Given the description of an element on the screen output the (x, y) to click on. 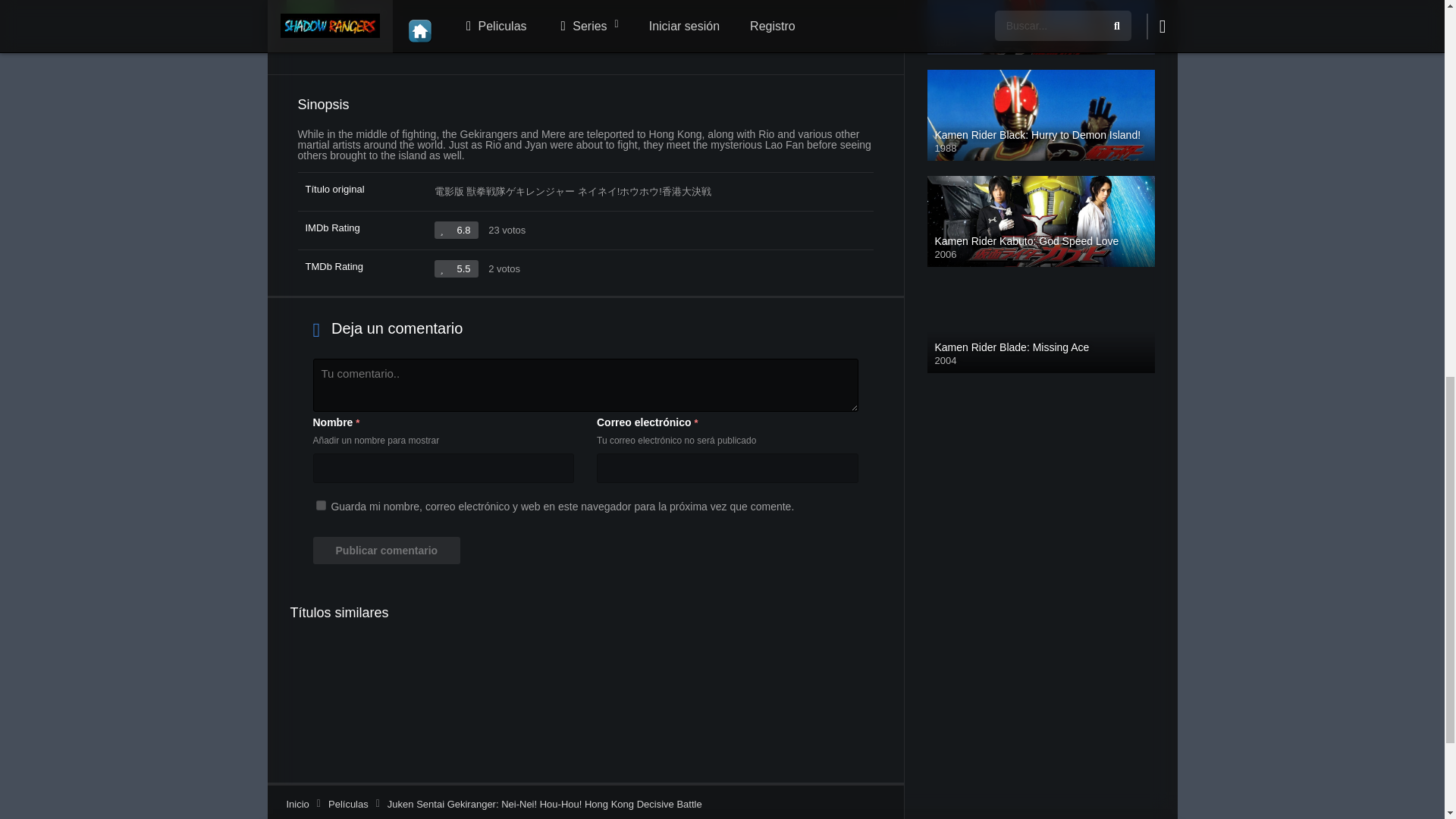
Publicar comentario (386, 550)
yes (319, 505)
Requerido (357, 422)
Requerido (695, 422)
